Given the description of an element on the screen output the (x, y) to click on. 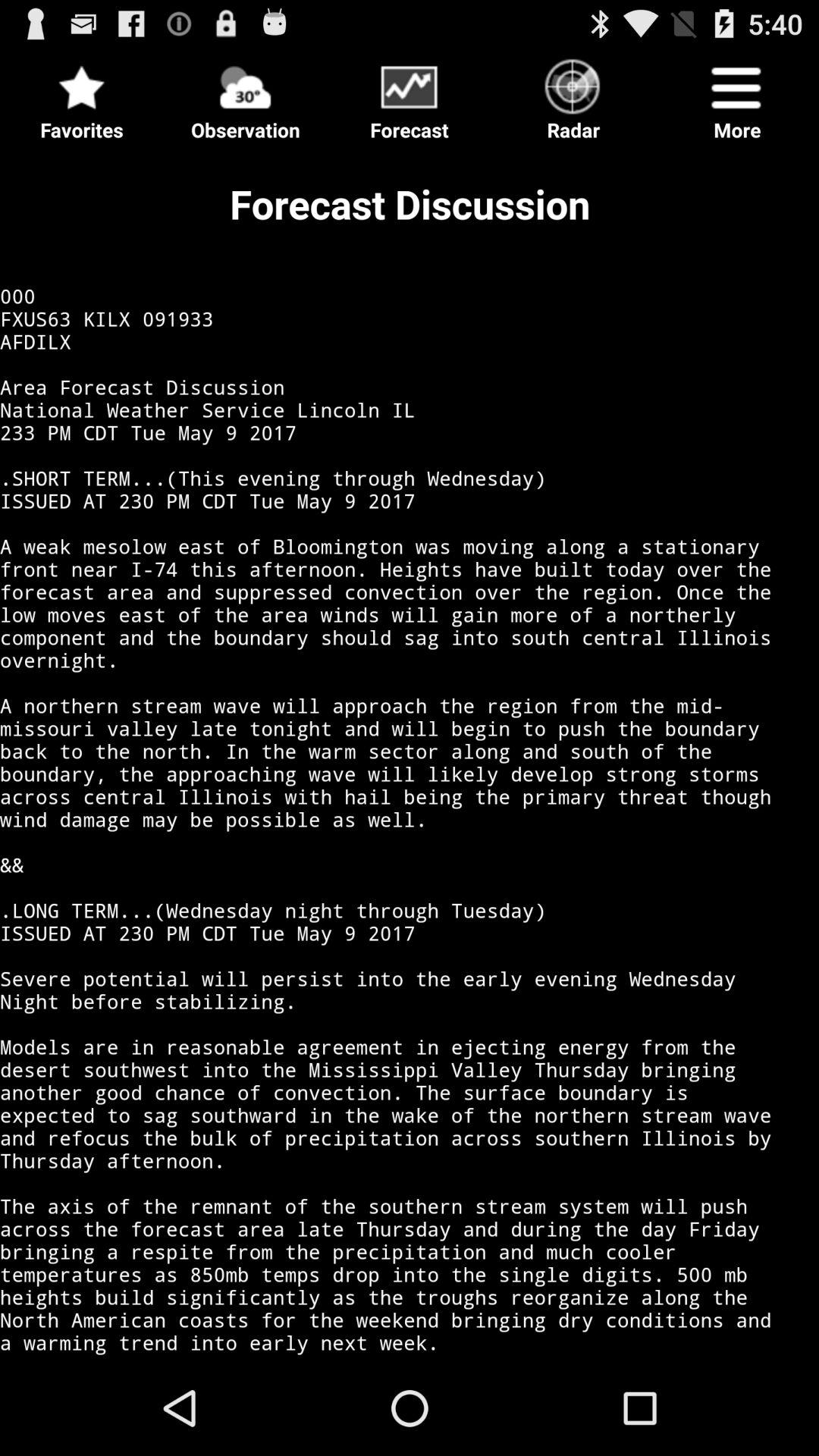
swipe to observation button (245, 95)
